Given the description of an element on the screen output the (x, y) to click on. 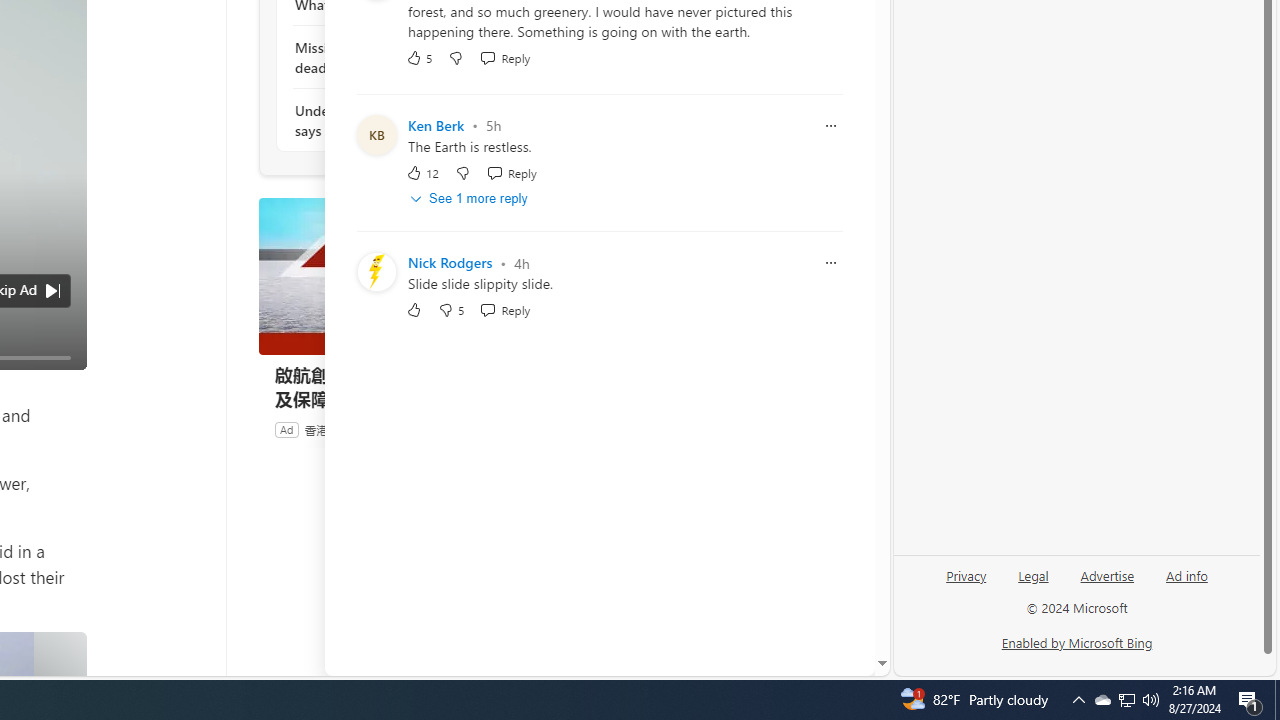
Profile Picture (376, 272)
See 1 more reply (470, 199)
Profile Picture (376, 272)
Reply Reply Comment (505, 310)
